Given the description of an element on the screen output the (x, y) to click on. 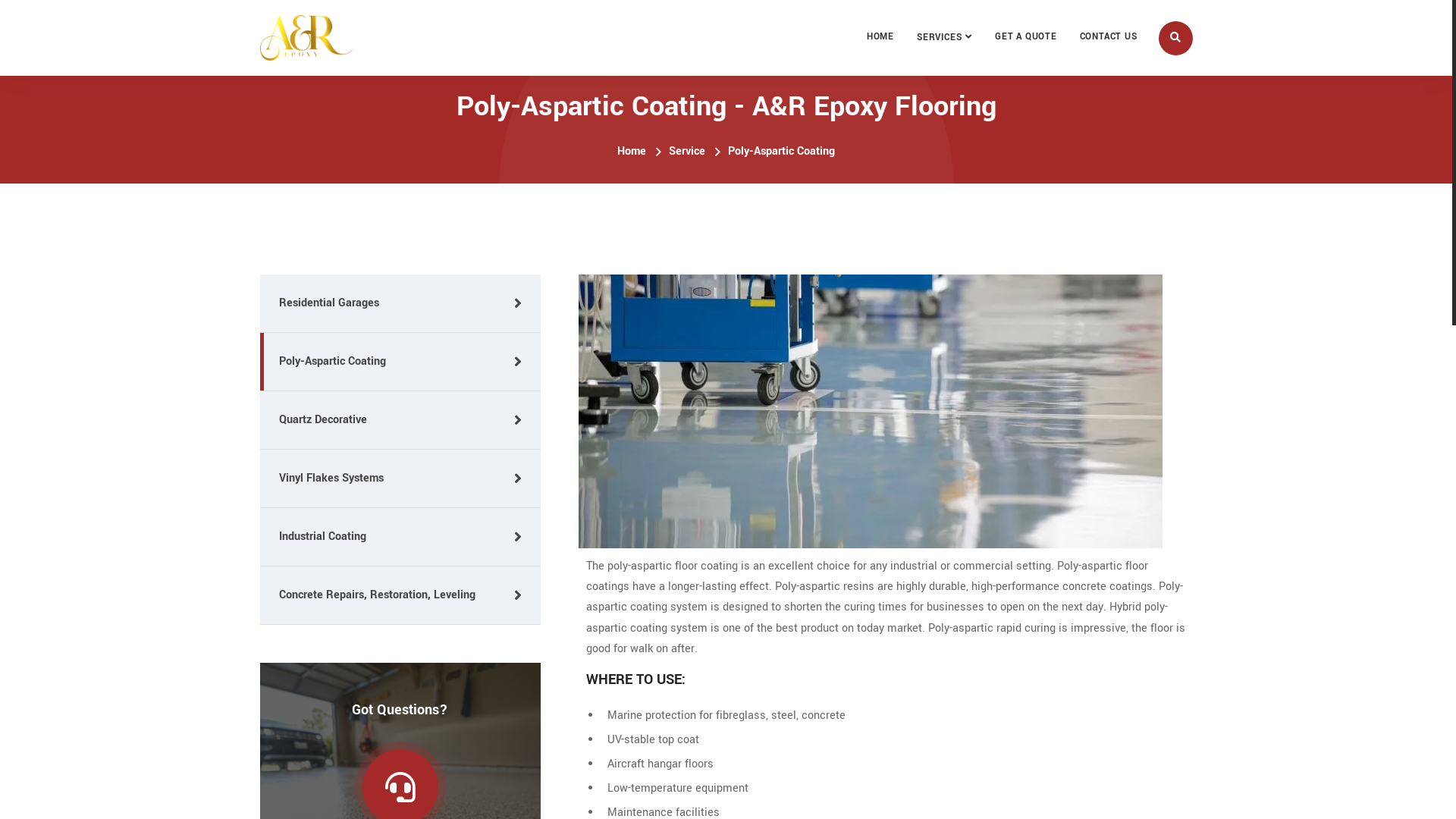
CONTACT US Element type: text (1108, 37)
GET A QUOTE Element type: text (1025, 37)
Quartz Decorative Element type: text (399, 420)
SERVICES Element type: text (944, 37)
Residential Garages Element type: text (399, 303)
Industrial Coating Element type: text (399, 537)
Poly-Aspartic Coating Element type: text (399, 361)
Home Element type: text (631, 151)
Vinyl Flakes Systems Element type: text (399, 478)
Service Element type: text (686, 151)
Concrete Repairs, Restoration, Leveling Element type: text (399, 595)
HOME Element type: text (880, 37)
